Given the description of an element on the screen output the (x, y) to click on. 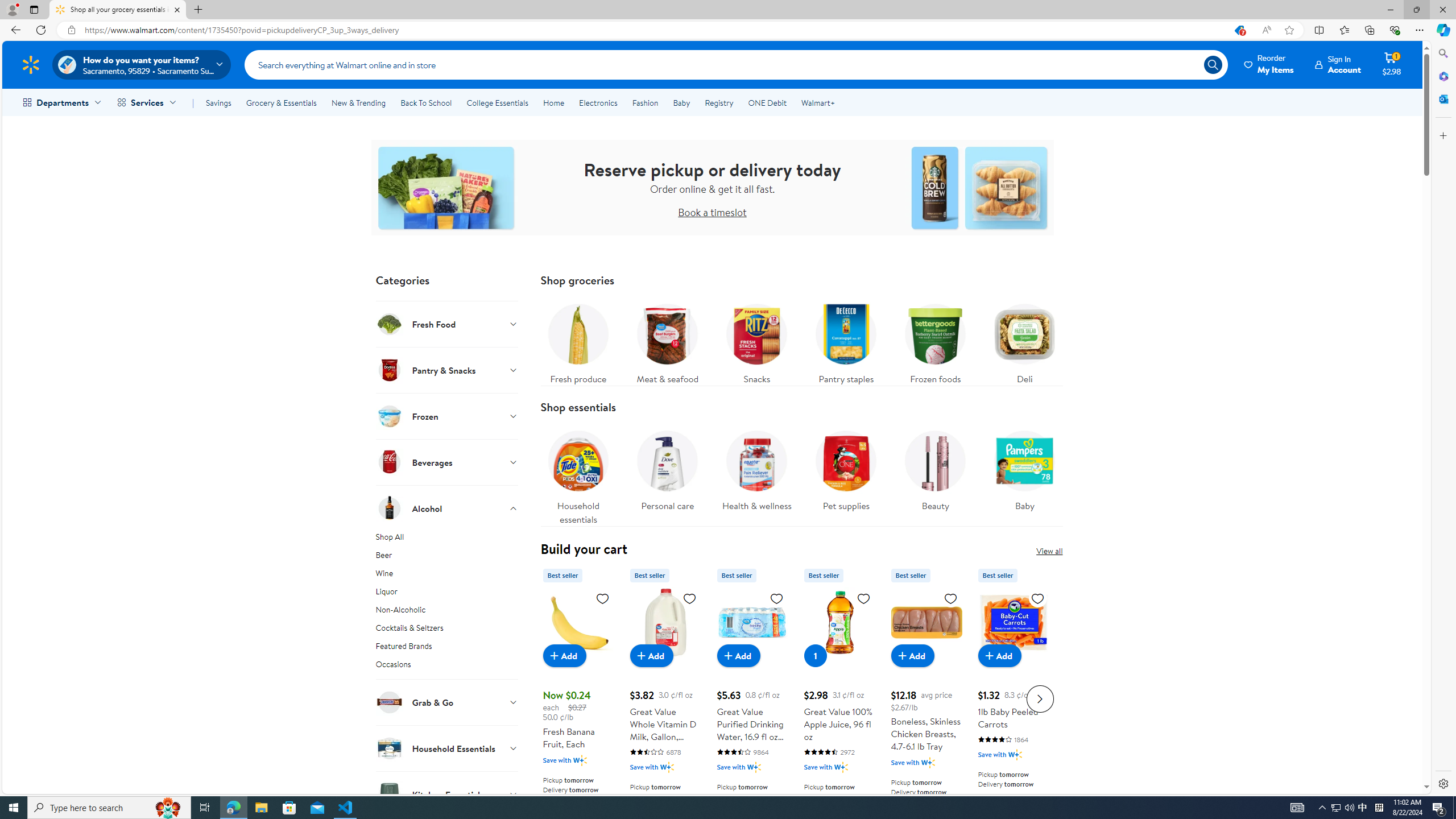
College Essentials (496, 102)
Snacks (756, 340)
1lb Baby Peeled Carrots (1012, 621)
ONE Debit (767, 102)
Savings (217, 102)
Featured Brands (446, 648)
Sign In Account (1338, 64)
Meat & seafood (667, 340)
Deli (1024, 340)
Shop All (446, 539)
